Given the description of an element on the screen output the (x, y) to click on. 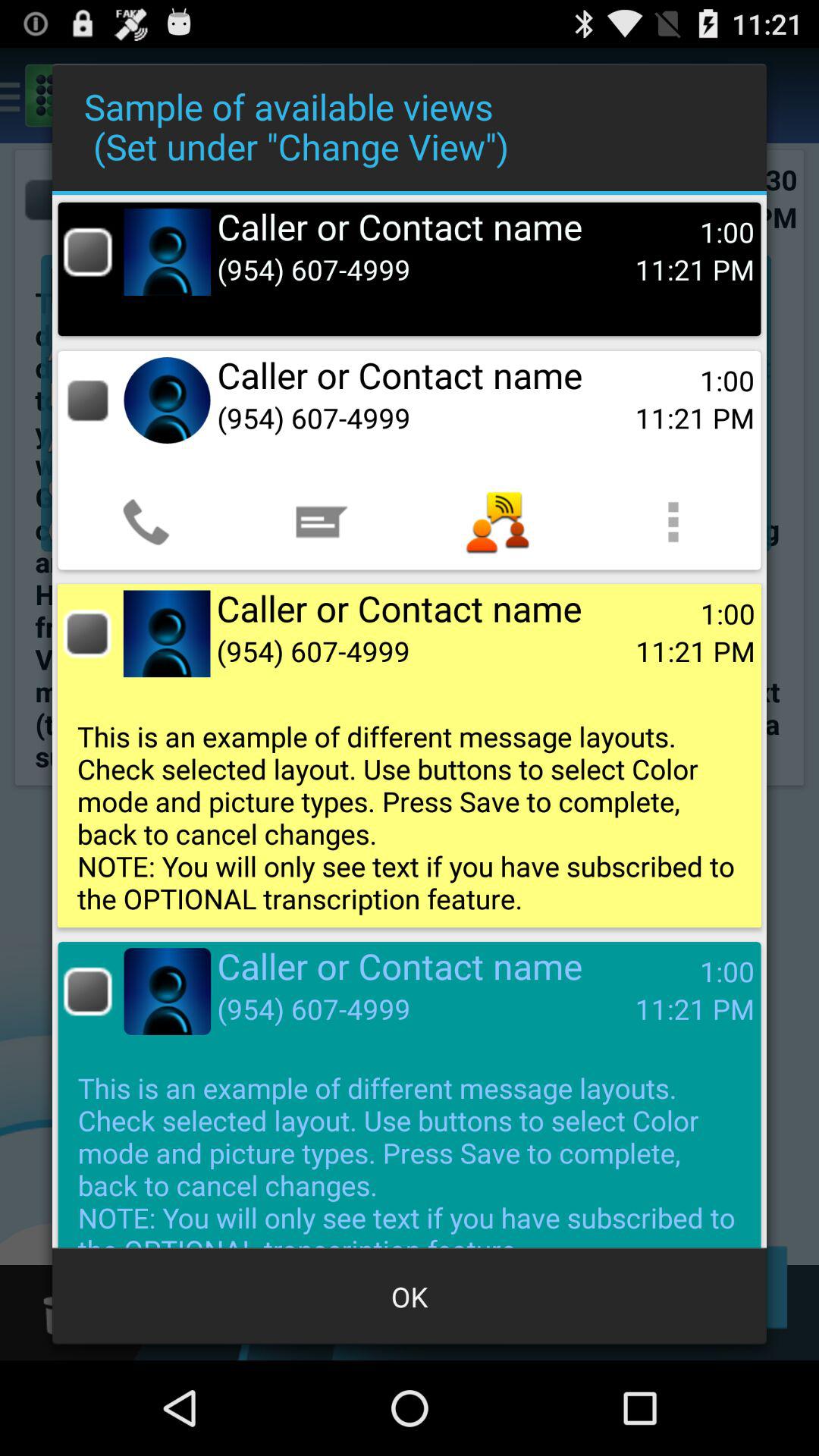
select app above the caller or contact app (497, 521)
